Given the description of an element on the screen output the (x, y) to click on. 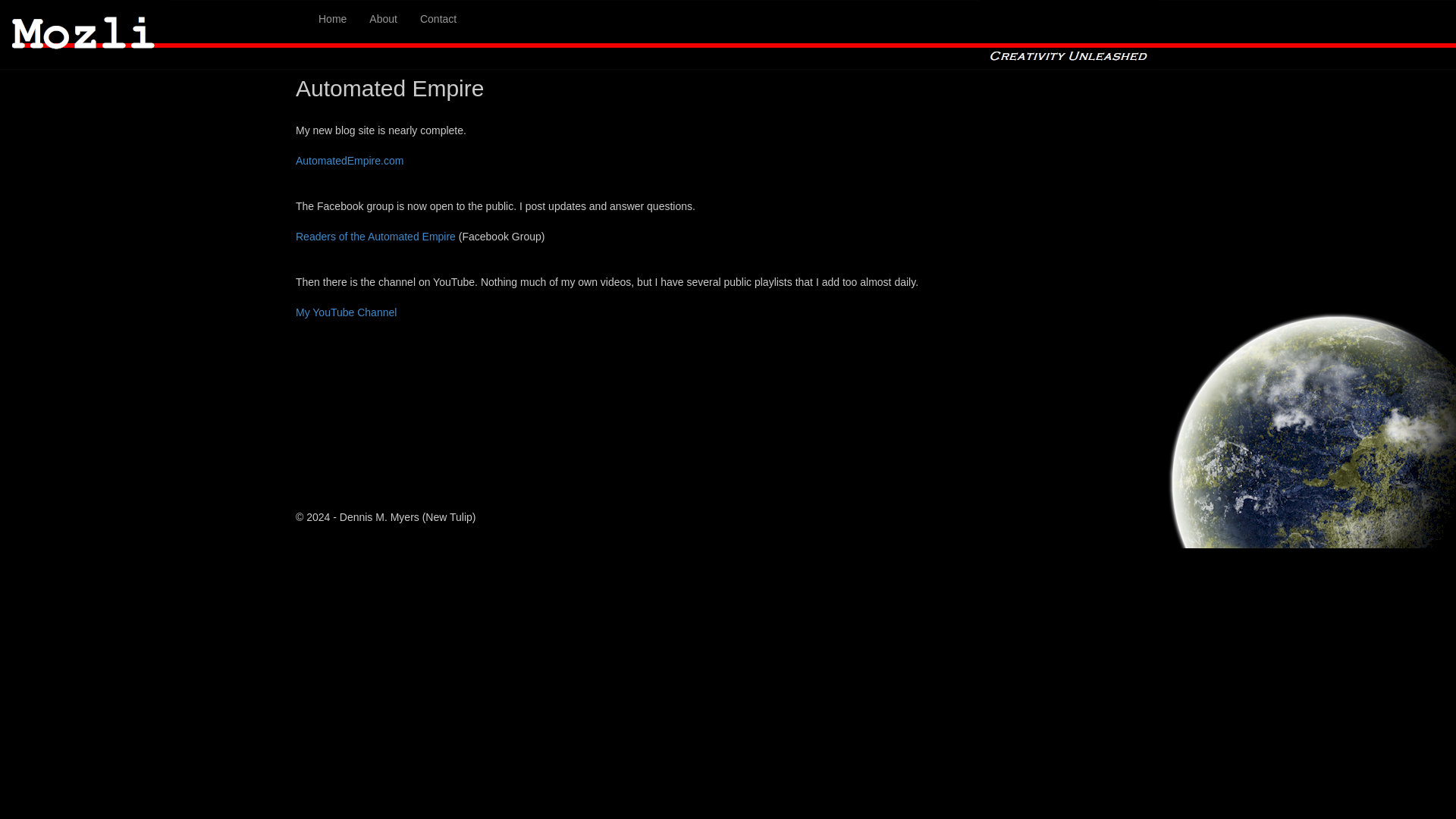
Readers of the Automated Empire (375, 236)
About (383, 18)
AutomatedEmpire.com (349, 160)
Home (332, 18)
My YouTube Channel (345, 312)
Contact (438, 18)
